Given the description of an element on the screen output the (x, y) to click on. 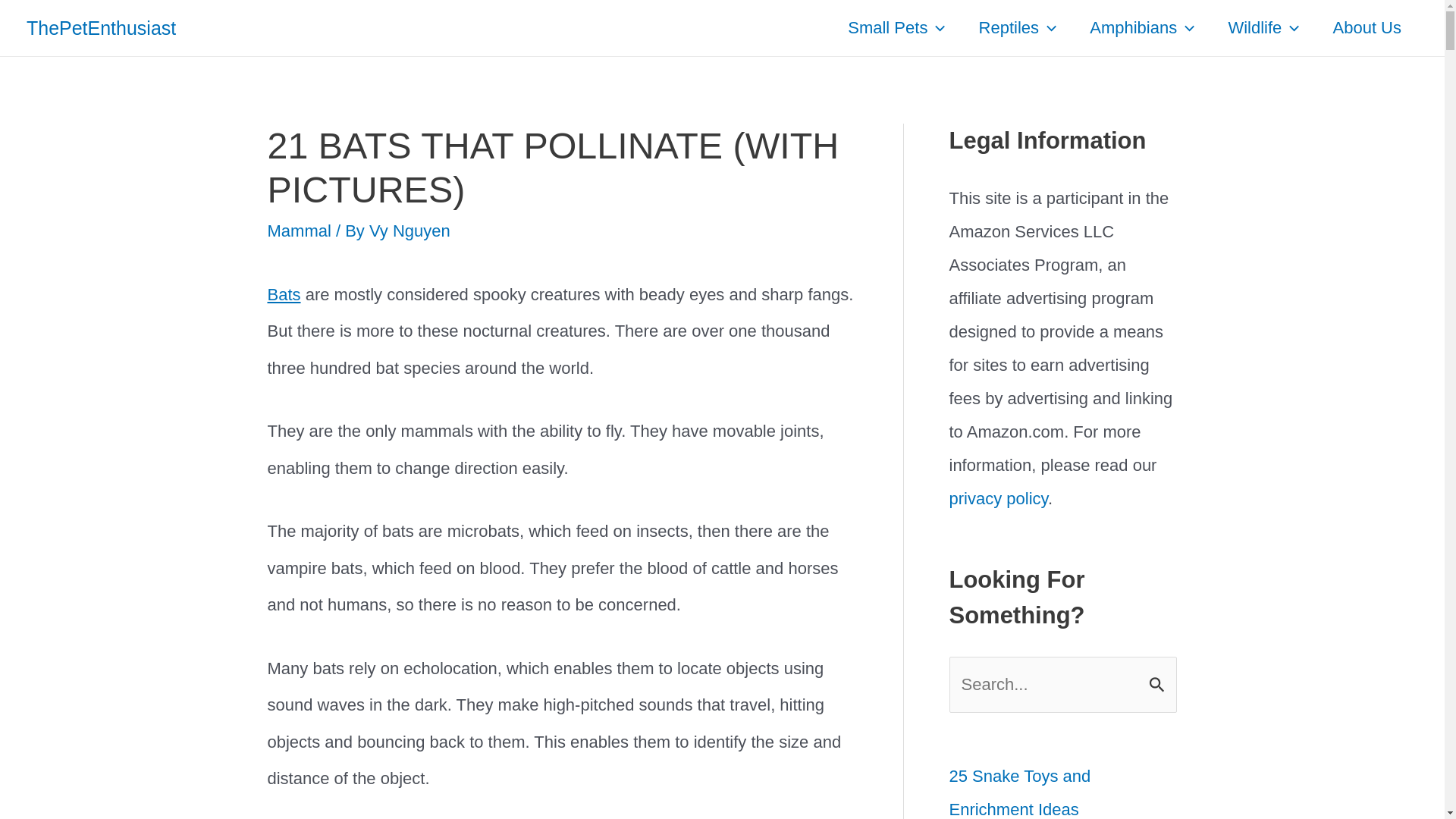
Search (1158, 674)
Amphibians (1142, 27)
View all posts by Vy Nguyen (409, 230)
About Us (1367, 27)
Wildlife (1263, 27)
ThePetEnthusiast (101, 27)
Reptiles (1018, 27)
Search (1158, 674)
Small Pets (895, 27)
